Given the description of an element on the screen output the (x, y) to click on. 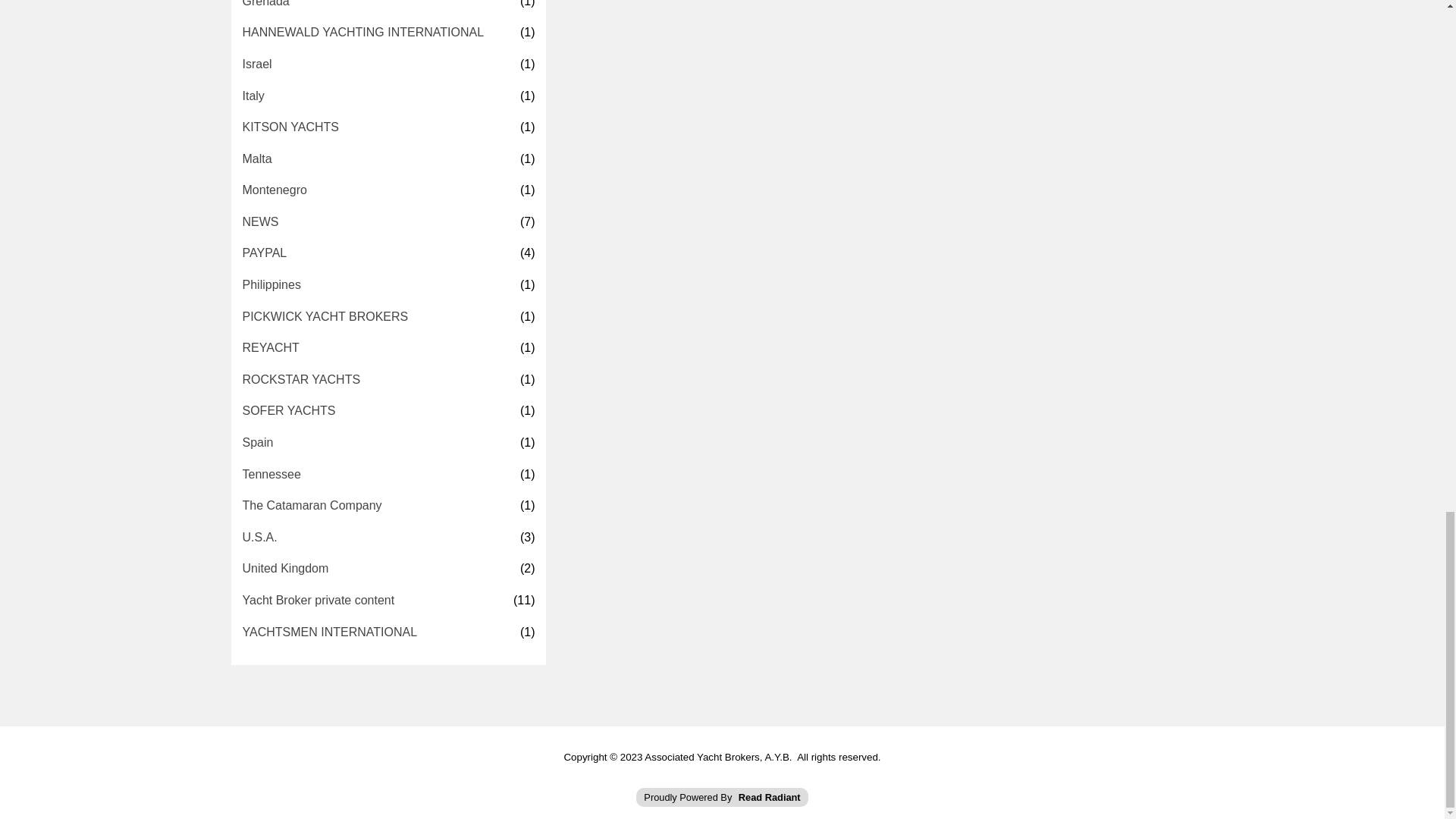
Italy (253, 96)
Grenada (266, 5)
KITSON YACHTS (291, 127)
HANNEWALD YACHTING INTERNATIONAL (363, 32)
Israel (257, 64)
